Given the description of an element on the screen output the (x, y) to click on. 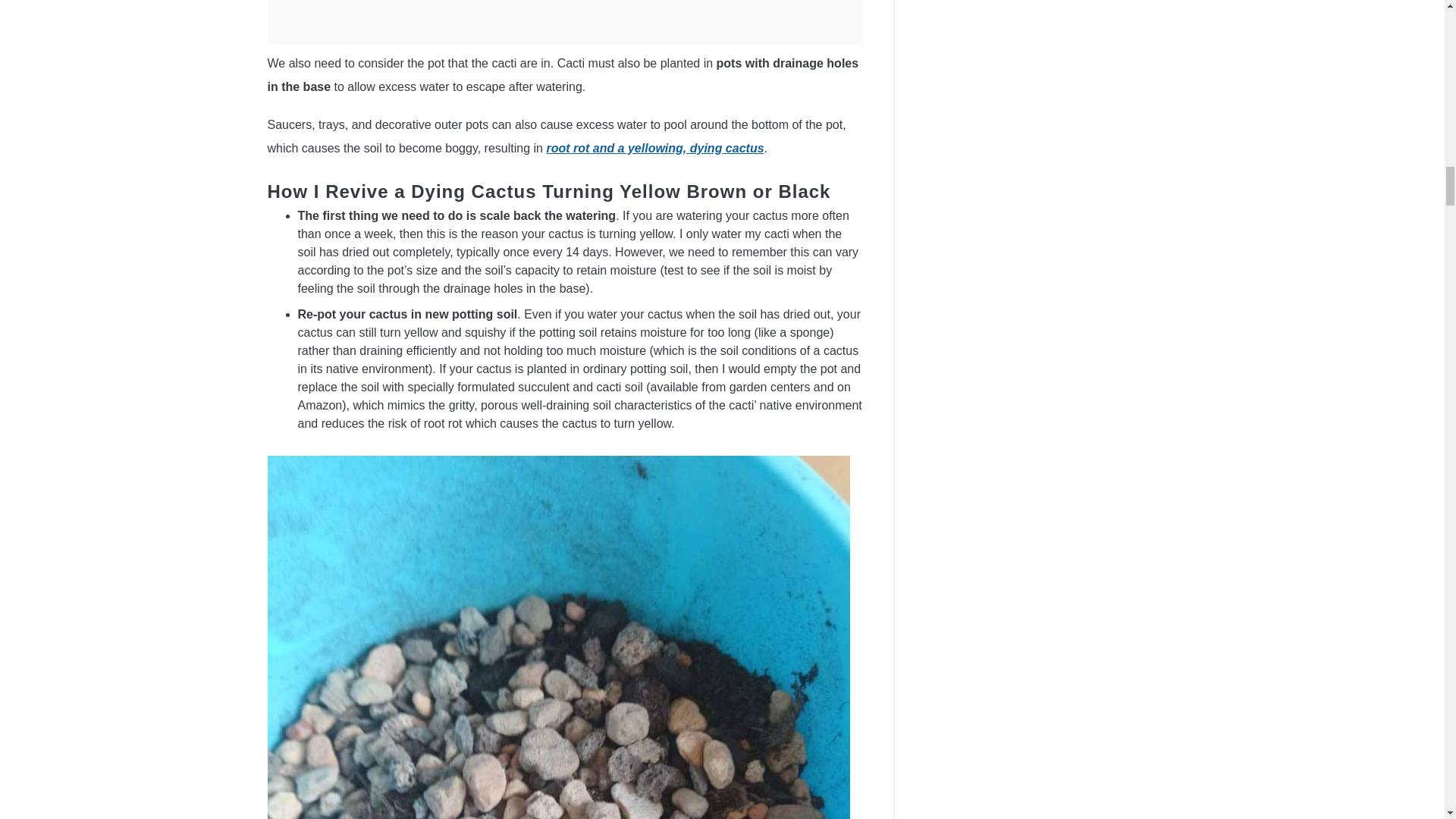
root rot and a yellowing, dying cactus (654, 147)
